Given the description of an element on the screen output the (x, y) to click on. 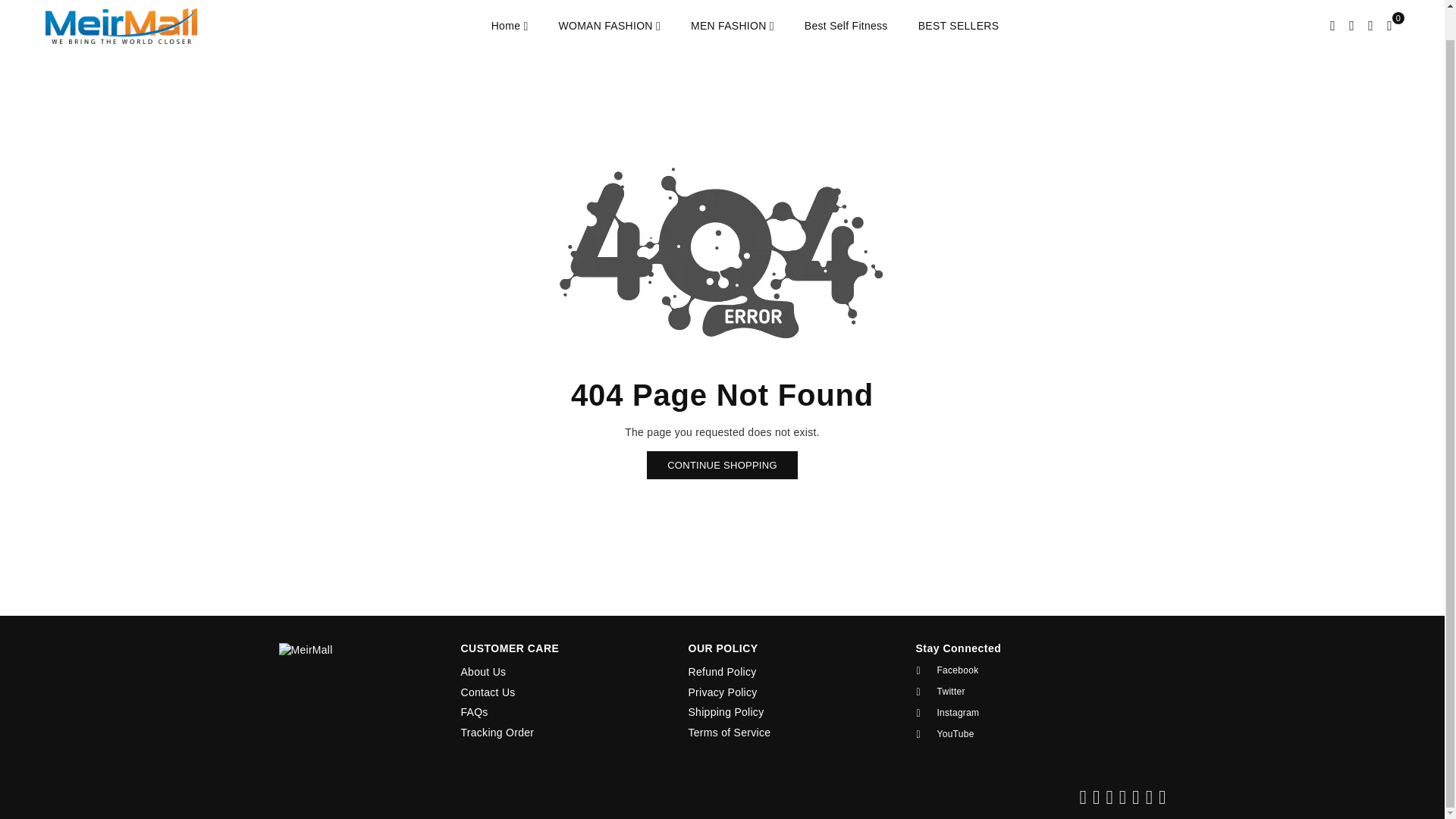
MEN FASHION (732, 25)
MeirMall on YouTube (1013, 734)
WOMAN FASHION (609, 25)
Best Self Fitness (846, 25)
MeirMall on Twitter (1013, 691)
MeirMall on Facebook (1013, 670)
MeirMall (132, 26)
MeirMall on Instagram (1013, 712)
Home (510, 25)
BEST SELLERS (958, 25)
